Given the description of an element on the screen output the (x, y) to click on. 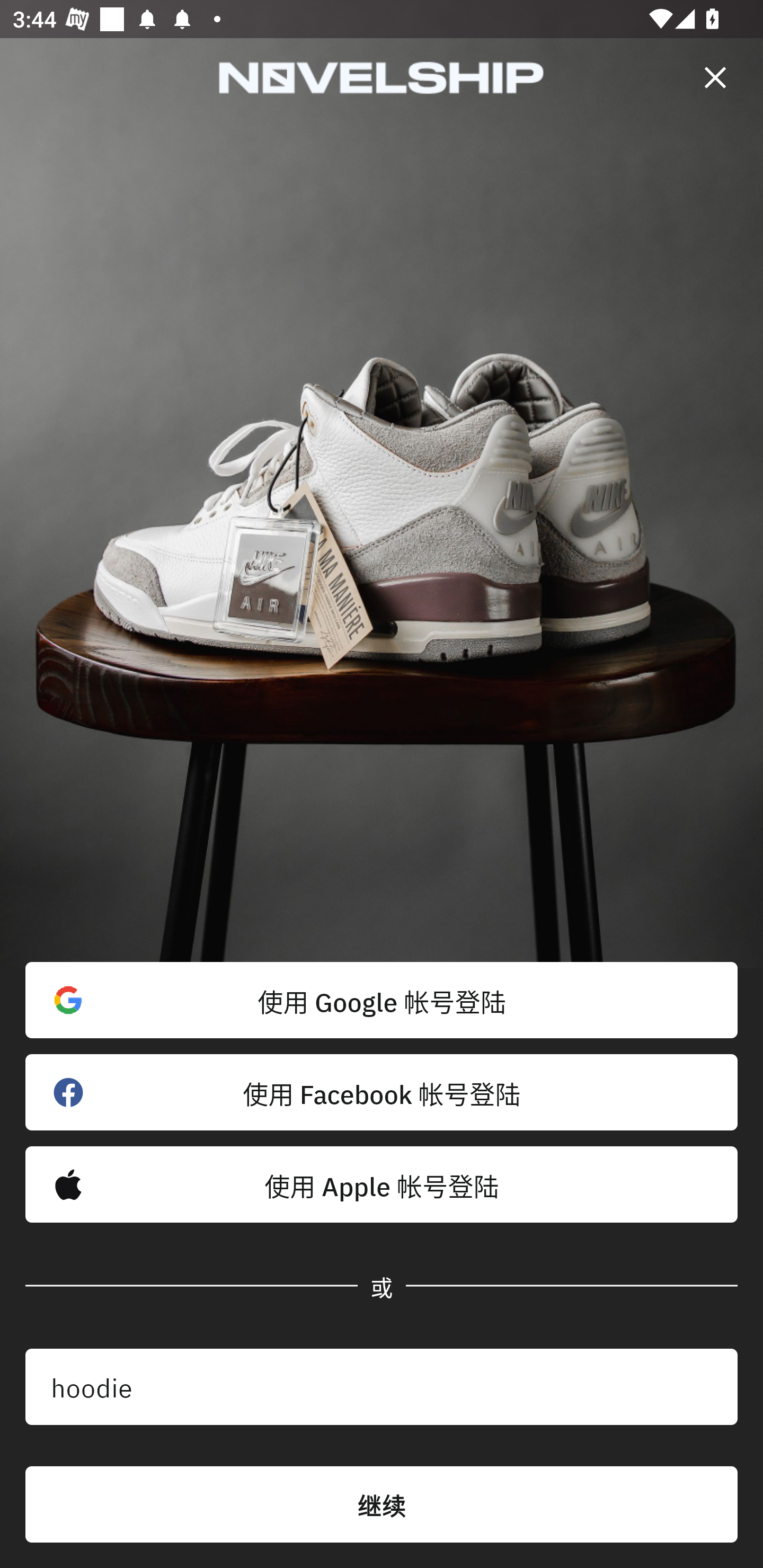
使用 Google 帐号登陆 (381, 1000)
使用 Facebook 帐号登陆 󰈌 (381, 1091)
 使用 Apple 帐号登陆 (381, 1184)
hoodie (381, 1386)
继续 (381, 1504)
